Given the description of an element on the screen output the (x, y) to click on. 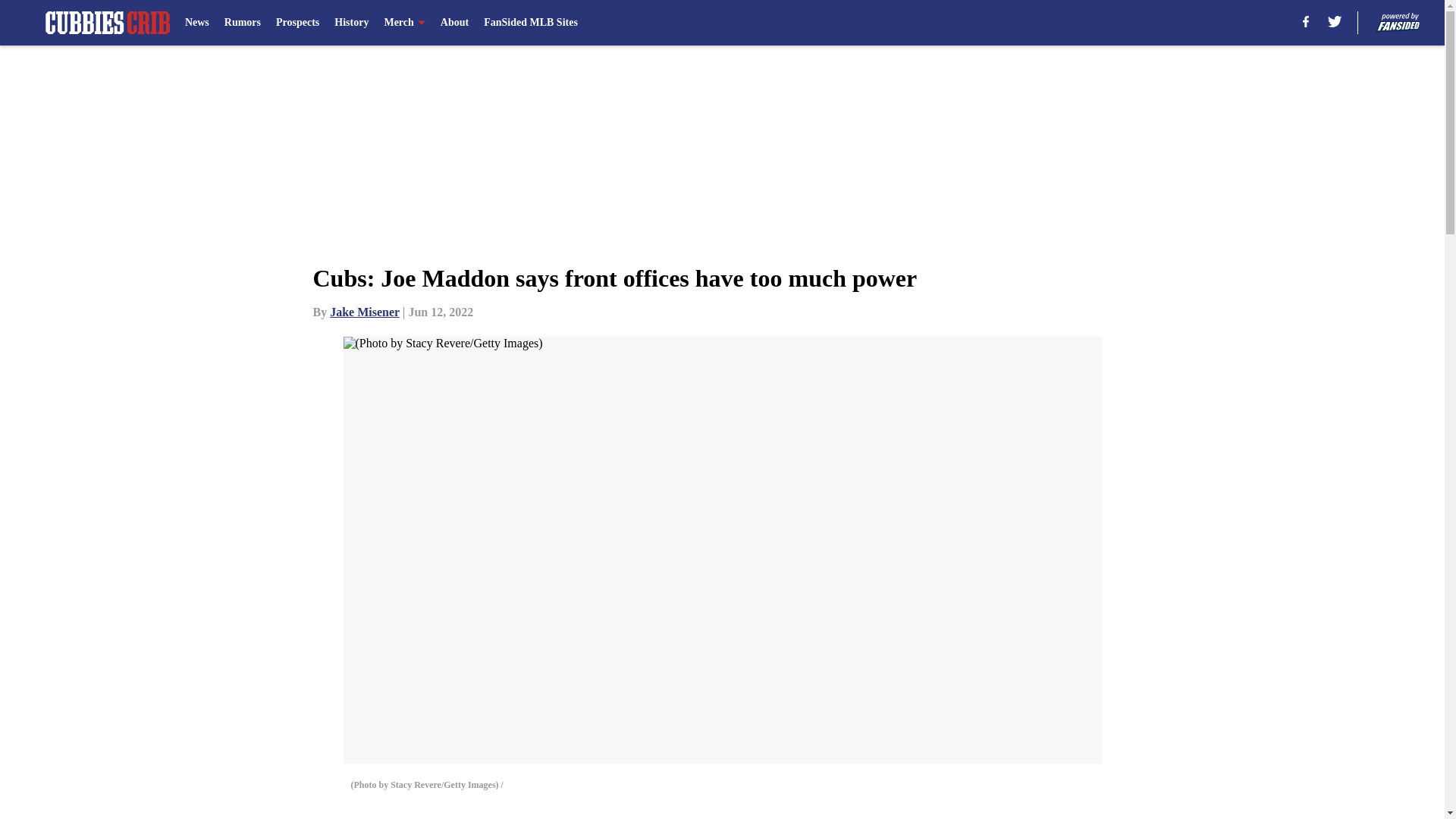
Prospects (297, 22)
FanSided MLB Sites (530, 22)
News (196, 22)
About (454, 22)
History (351, 22)
Jake Misener (364, 311)
Rumors (242, 22)
